Given the description of an element on the screen output the (x, y) to click on. 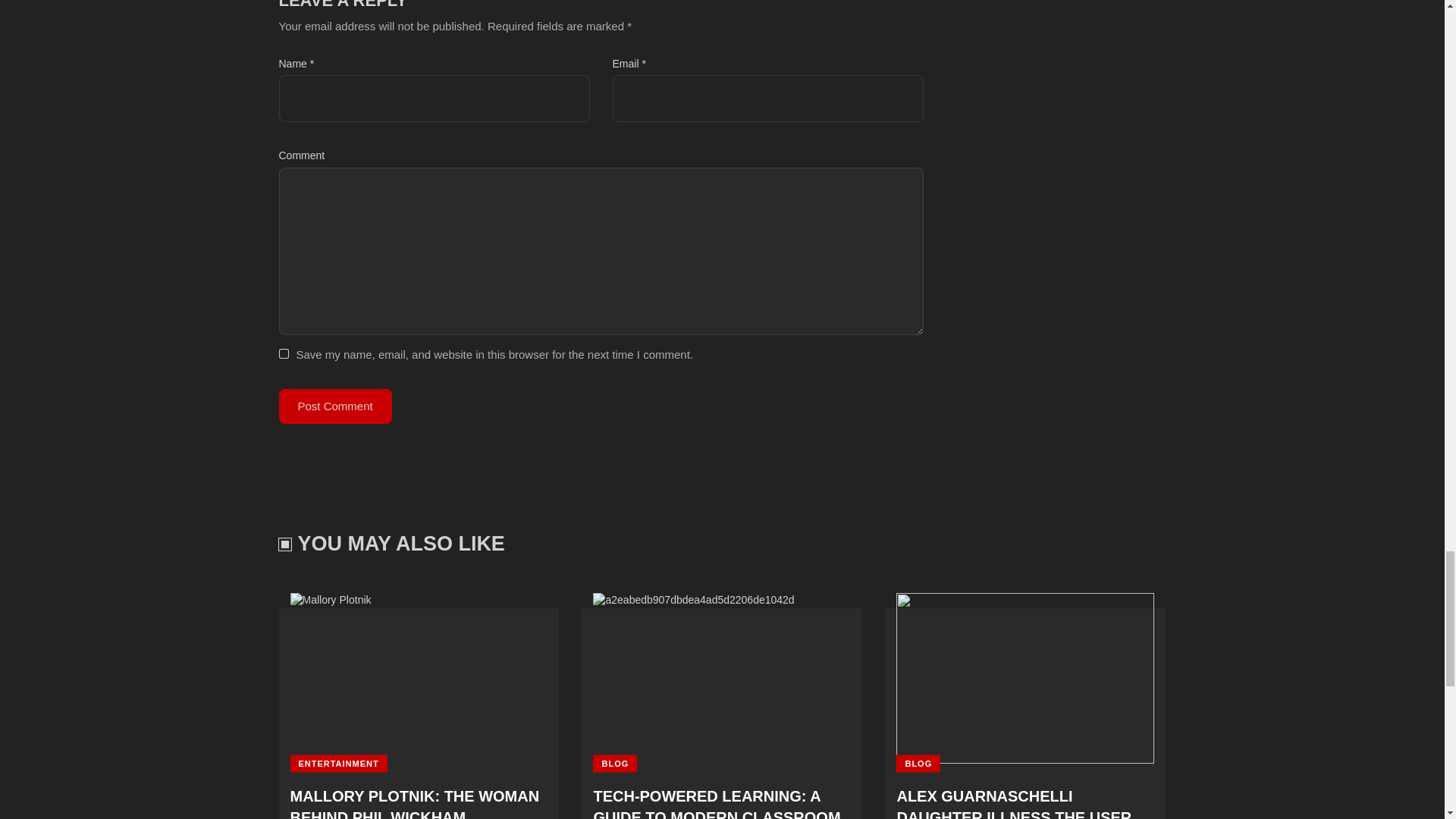
Post Comment (335, 406)
yes (283, 354)
